Given the description of an element on the screen output the (x, y) to click on. 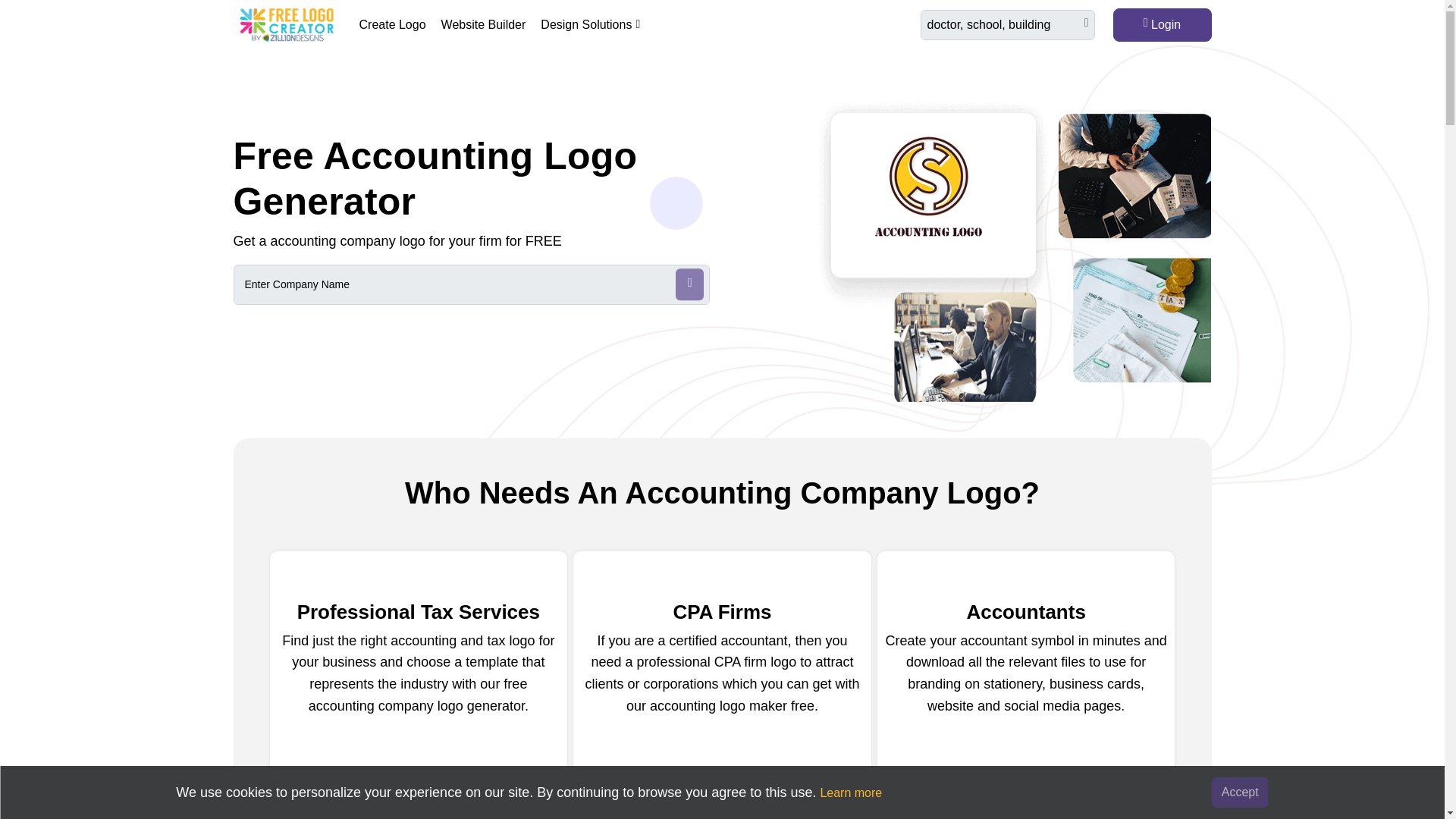
website builder (483, 24)
Login (1162, 24)
Create Logo (392, 24)
Create Logo (721, 816)
Design Solutions (589, 24)
Design Logo (323, 344)
Create Logo (392, 24)
Website Builder (483, 24)
